Given the description of an element on the screen output the (x, y) to click on. 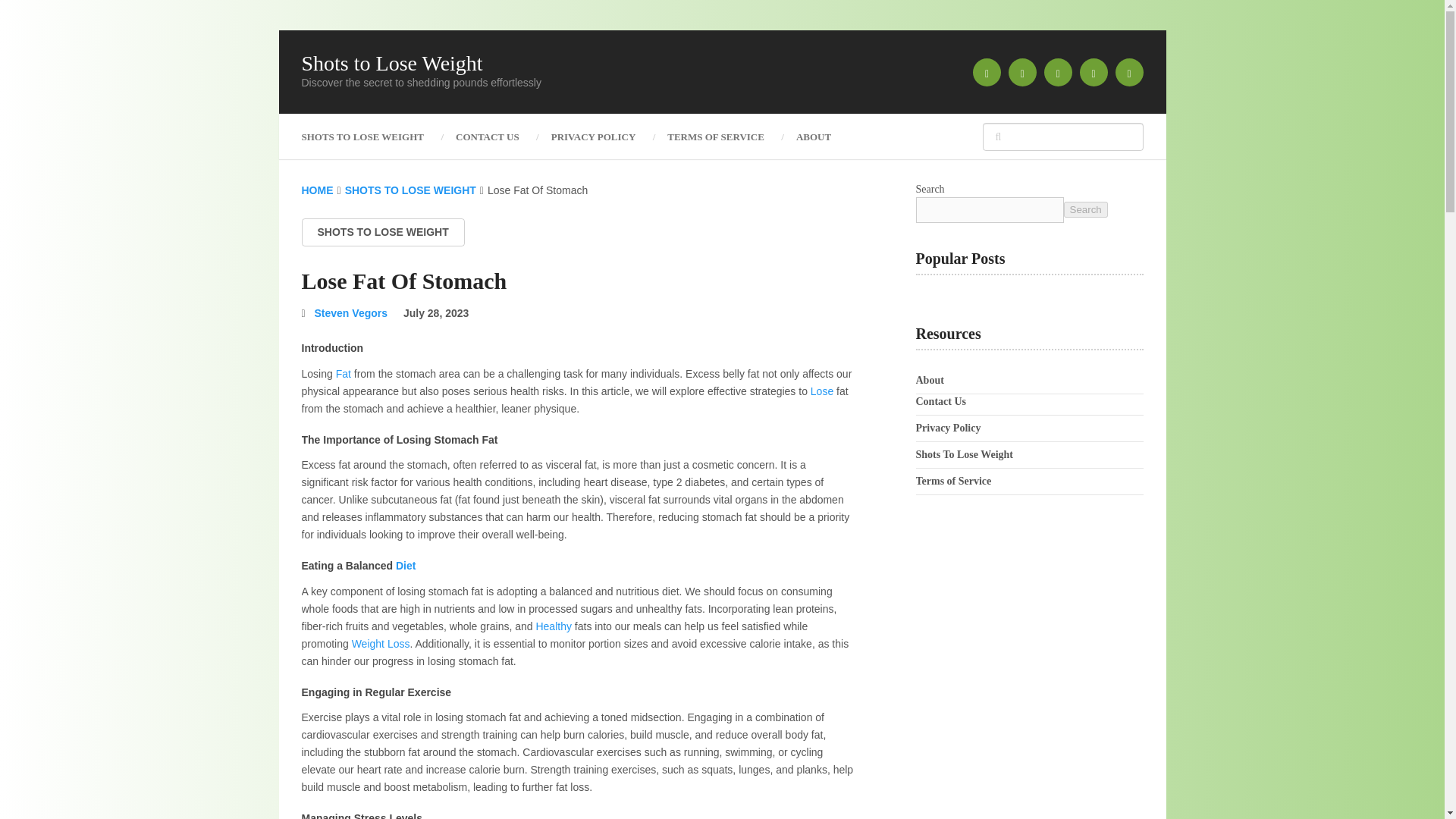
View all posts in Shots to Lose Weight (382, 232)
Lose (821, 390)
TERMS OF SERVICE (715, 135)
HOME (317, 190)
Diet (405, 565)
PRIVACY POLICY (593, 135)
Fat (343, 373)
Weight (368, 644)
Shots to Lose Weight (392, 63)
SHOTS TO LOSE WEIGHT (371, 135)
